Given the description of an element on the screen output the (x, y) to click on. 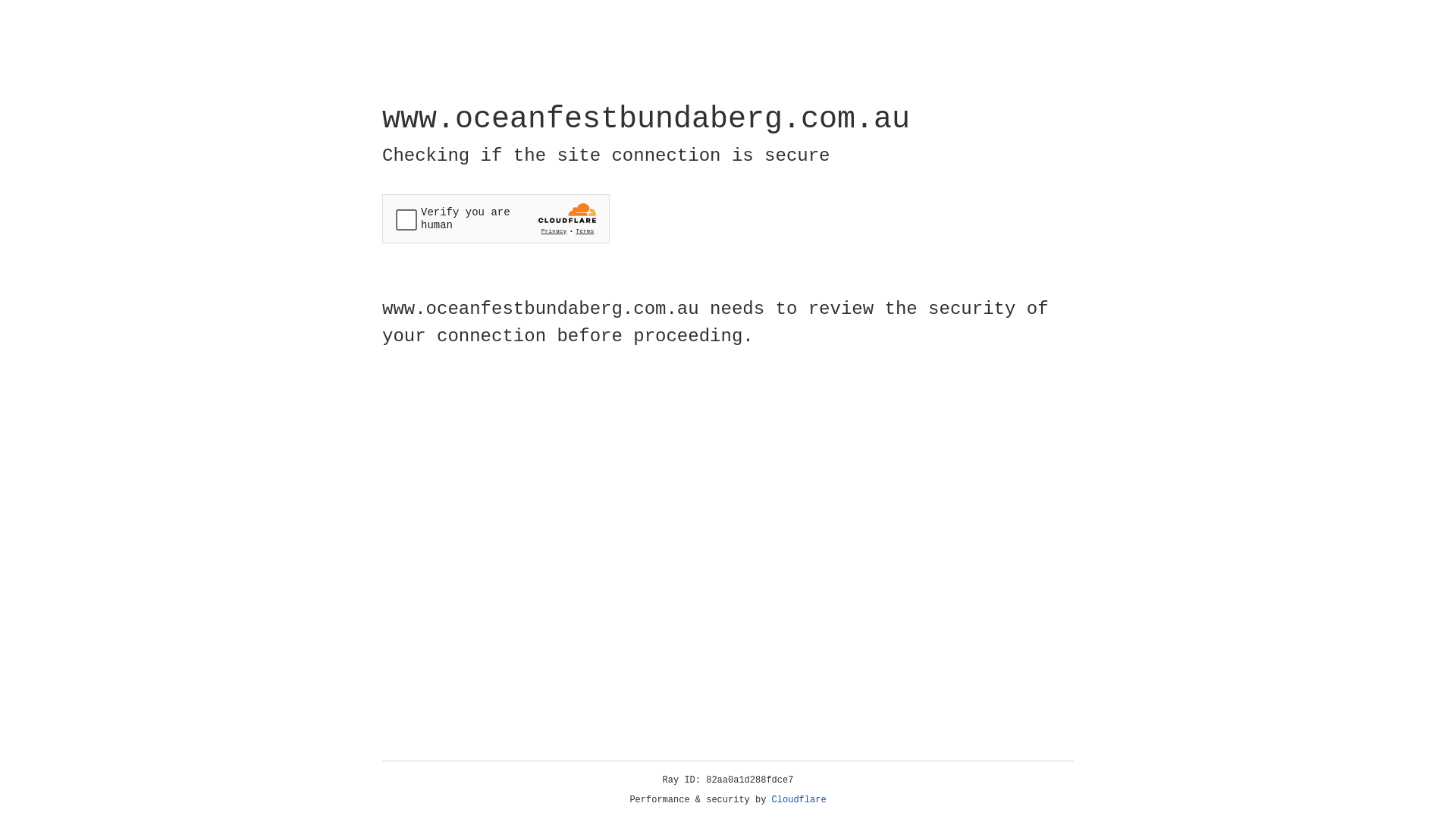
Cloudflare Element type: text (798, 799)
Widget containing a Cloudflare security challenge Element type: hover (495, 218)
